Given the description of an element on the screen output the (x, y) to click on. 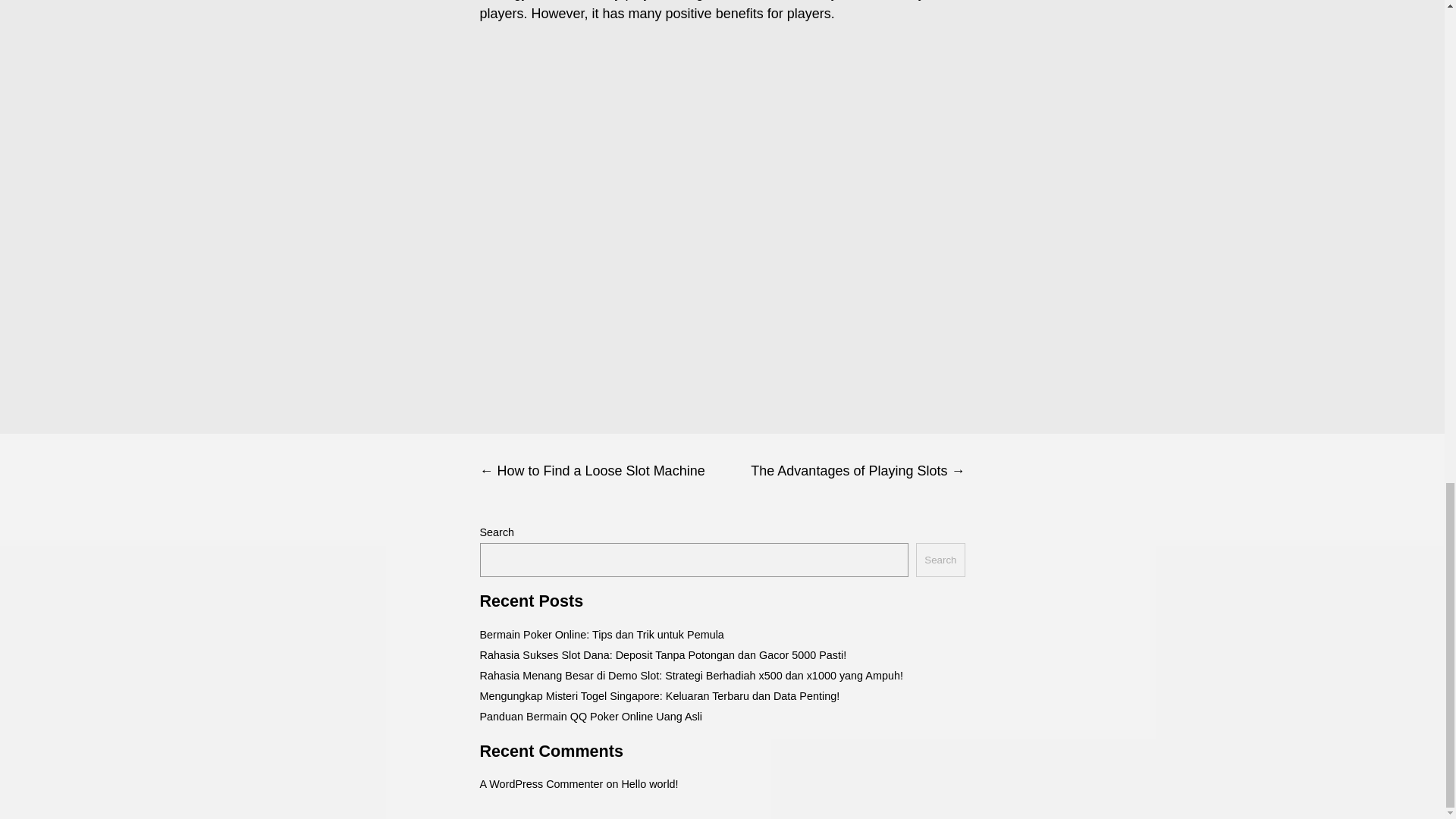
Bermain Poker Online: Tips dan Trik untuk Pemula (601, 634)
Hello world! (649, 784)
The Advantages of Playing Slots (842, 471)
How to Find a Loose Slot Machine (600, 471)
A WordPress Commenter (540, 784)
Search (939, 559)
Panduan Bermain QQ Poker Online Uang Asli (590, 716)
